Given the description of an element on the screen output the (x, y) to click on. 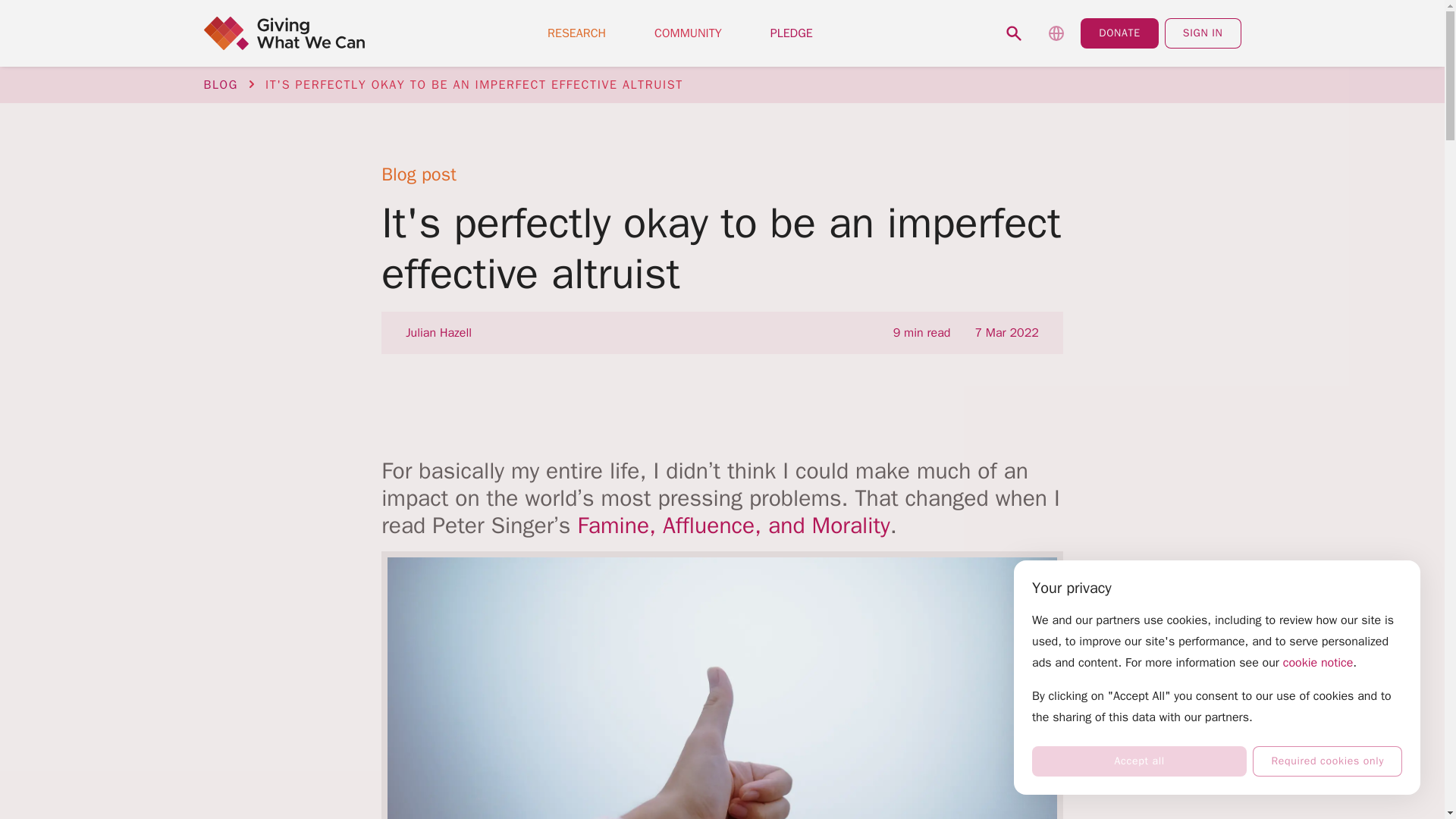
Julian Hazell (438, 332)
BLOG (220, 84)
Locale menu (1056, 33)
Search (1013, 33)
SIGN IN (1202, 33)
DONATE (1119, 33)
IT'S PERFECTLY OKAY TO BE AN IMPERFECT EFFECTIVE ALTRUIST (473, 84)
PLEDGE (791, 33)
Famine, Affluence, and Morality (732, 525)
RESEARCH (576, 33)
COMMUNITY (687, 33)
